Given the description of an element on the screen output the (x, y) to click on. 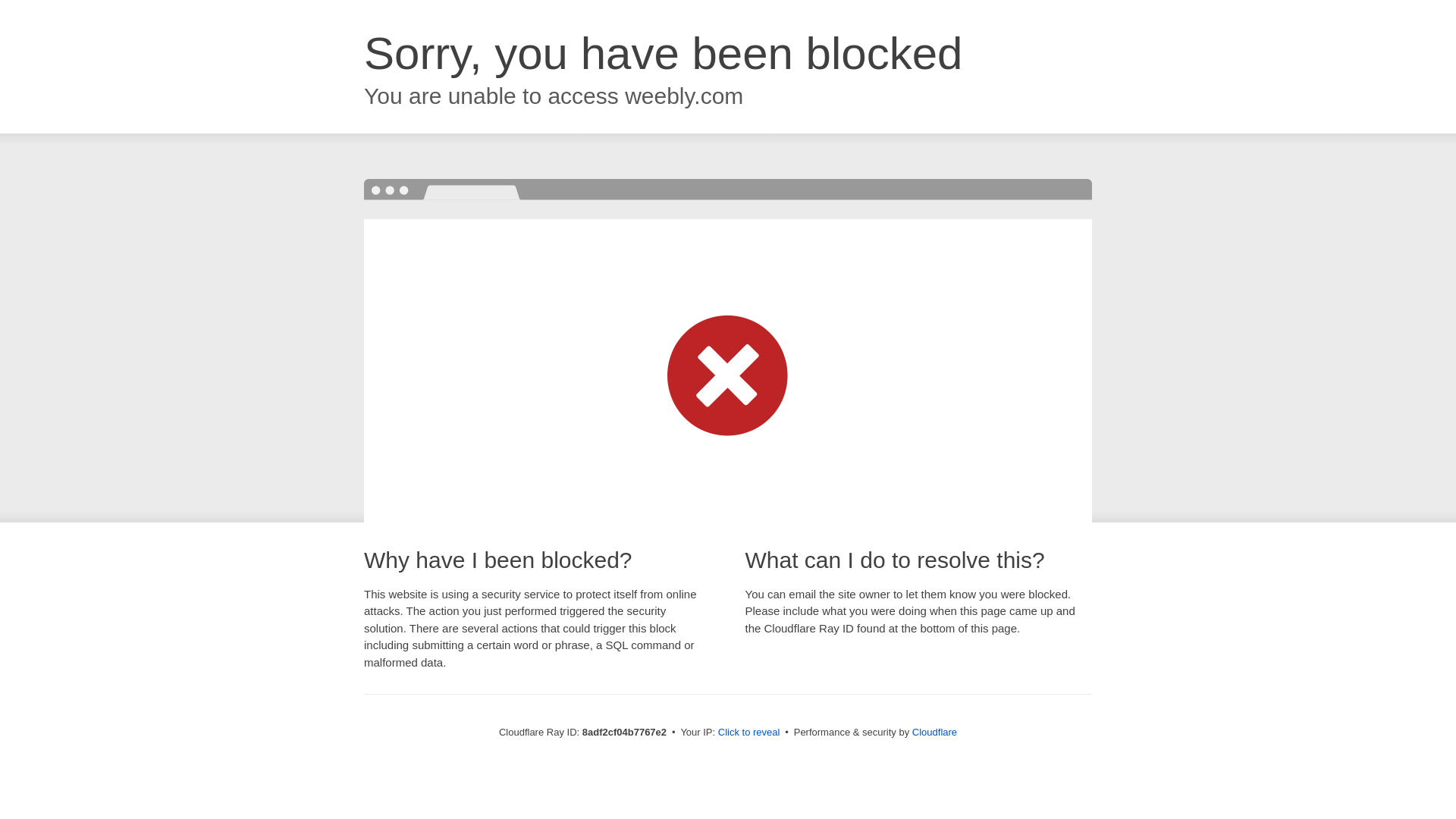
Cloudflare (934, 731)
Click to reveal (748, 732)
